Given the description of an element on the screen output the (x, y) to click on. 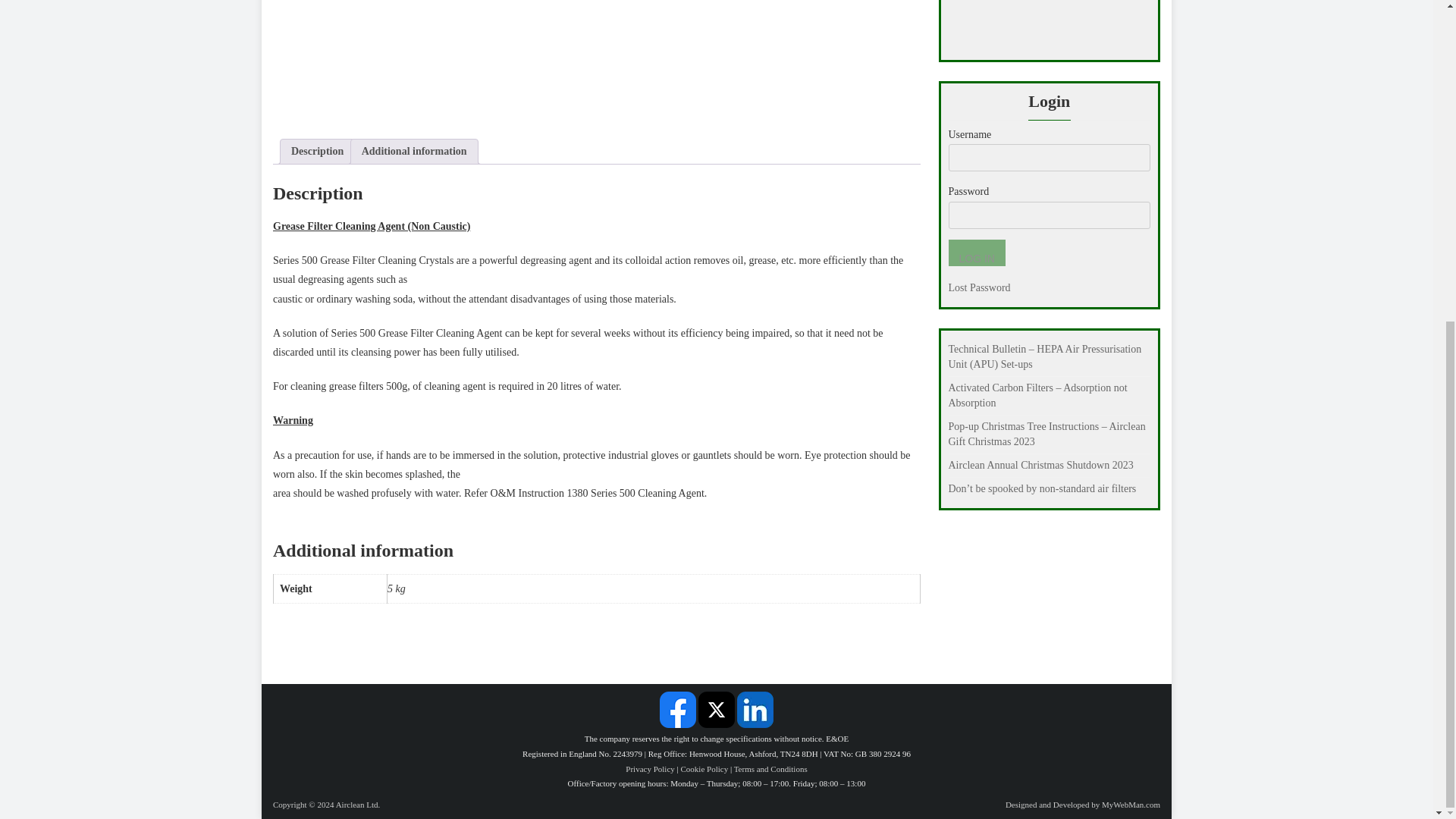
Log In (975, 252)
